Given the description of an element on the screen output the (x, y) to click on. 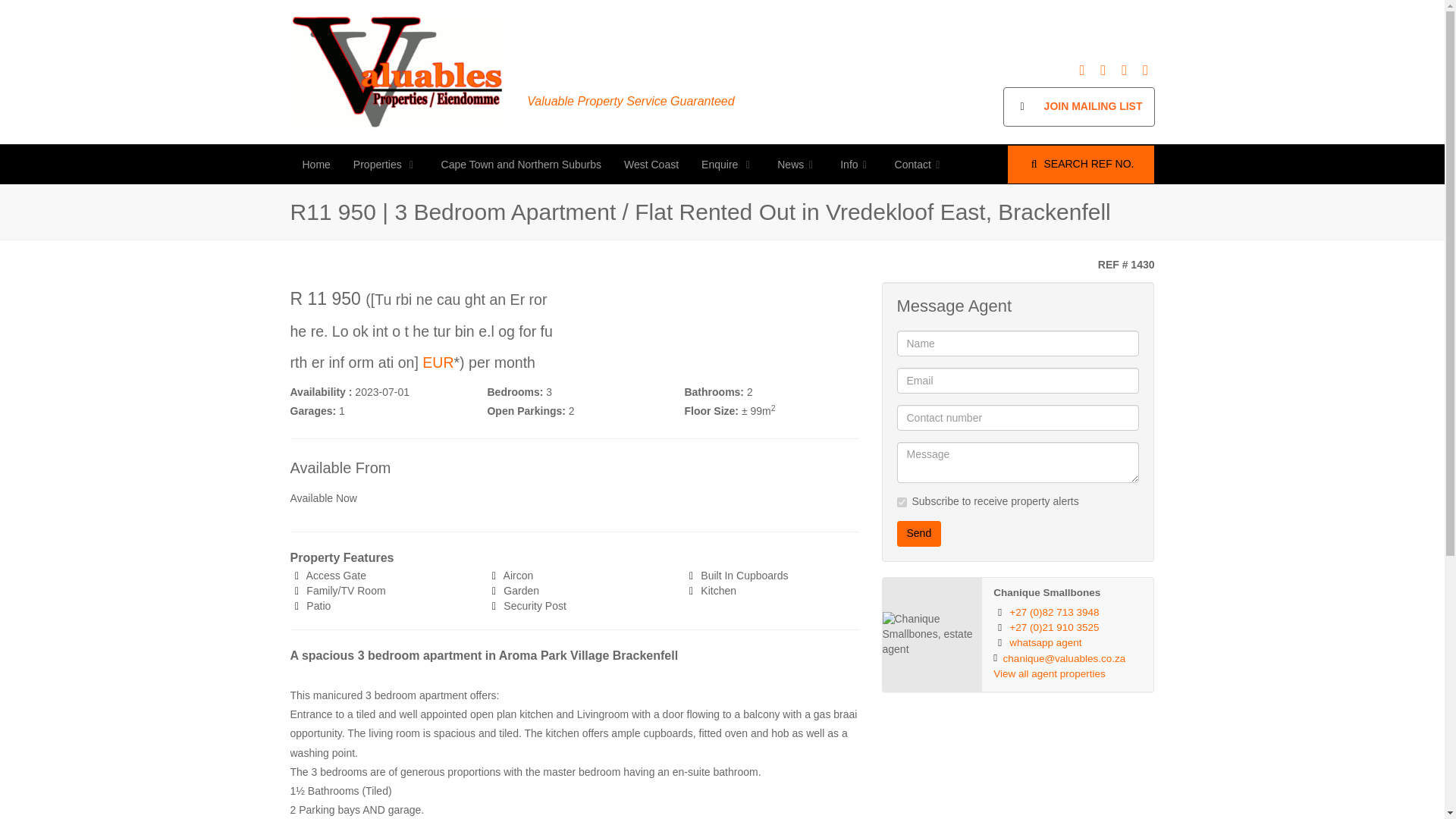
Enquire (727, 164)
Home (316, 164)
Cape Town and Northern Suburbs (520, 164)
West Coast (651, 164)
on (900, 501)
Properties (385, 164)
    JOIN MAILING LIST (1078, 106)
Contact (919, 164)
SEARCH REF NO. (1080, 164)
Valuables Properties , Estate Agency Logo (396, 71)
